Given the description of an element on the screen output the (x, y) to click on. 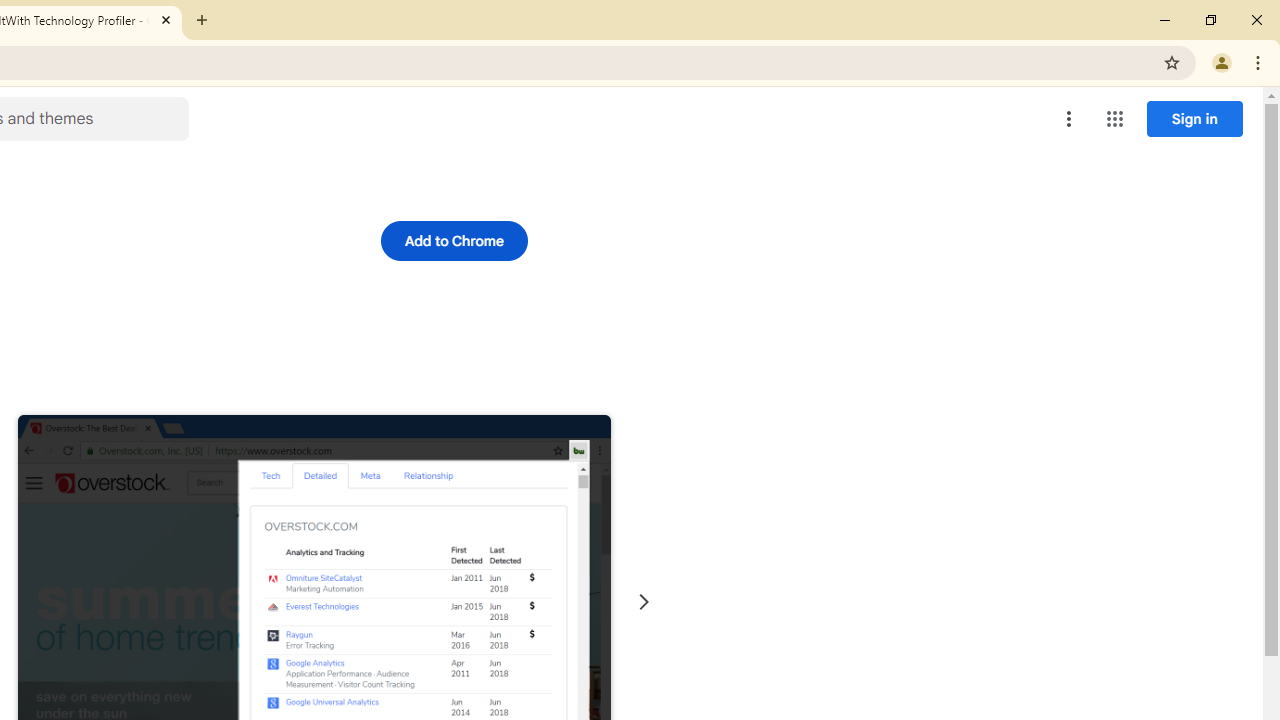
Add to Chrome (453, 240)
Next slide (643, 601)
More options menu (1069, 118)
